Given the description of an element on the screen output the (x, y) to click on. 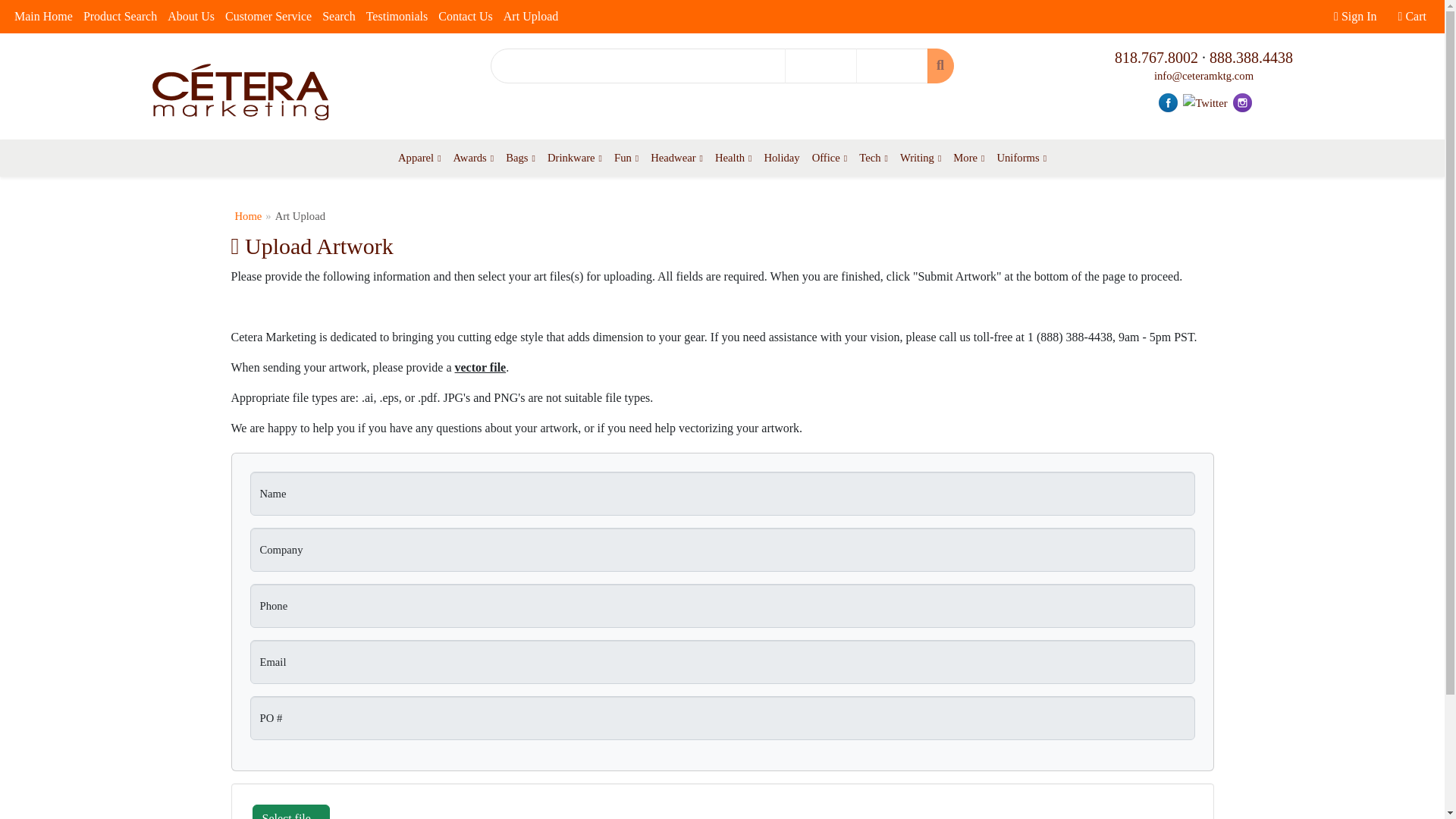
888.388.4438 (1250, 57)
Visit us on Twitter (1204, 101)
Visit us on Facebook (1167, 101)
Testimonials (397, 16)
About Us (190, 16)
Apparel (418, 157)
Customer Service (268, 16)
Main Home (43, 16)
Contact Us (464, 16)
Sign In (1354, 16)
